Given the description of an element on the screen output the (x, y) to click on. 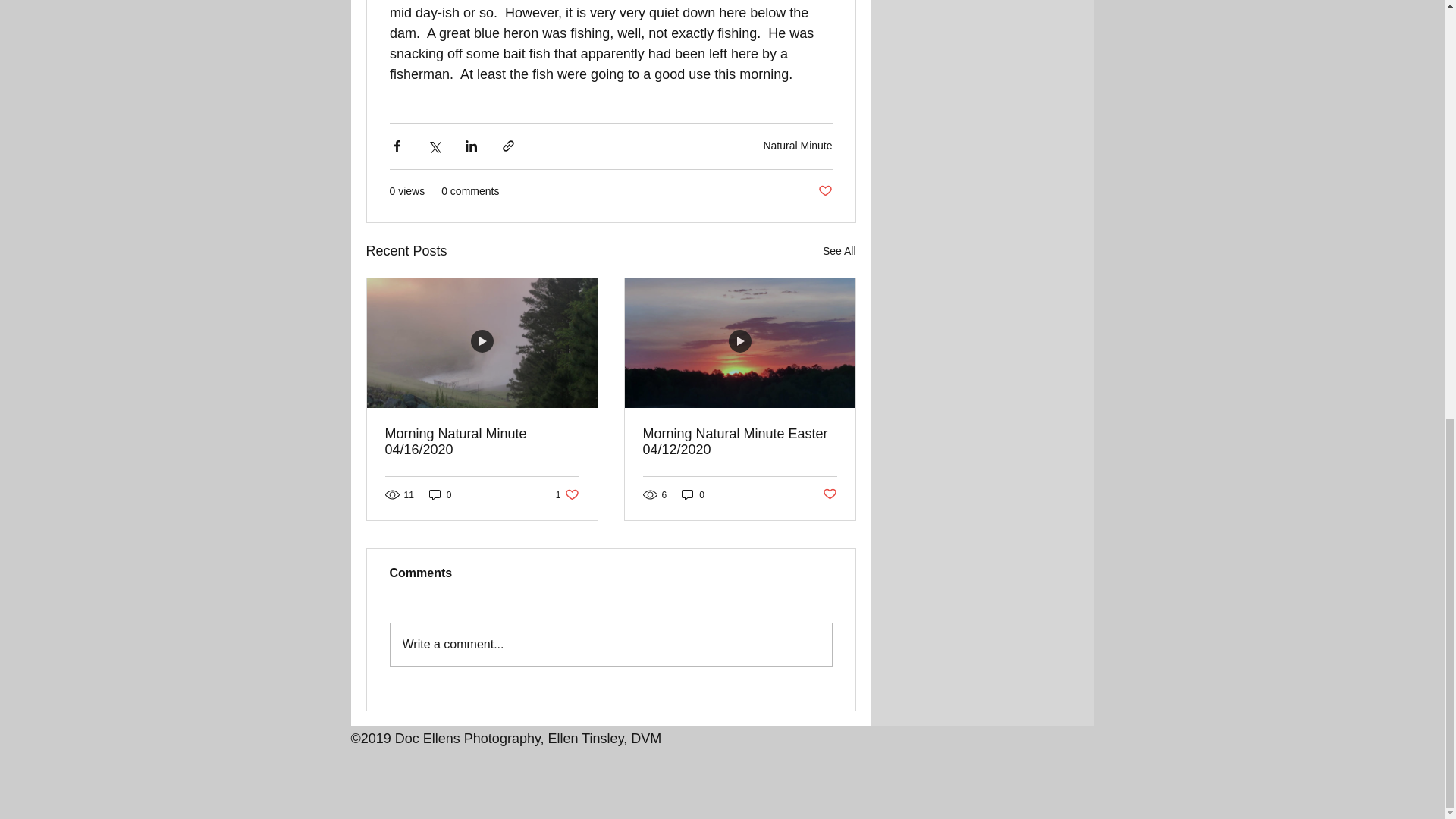
Natural Minute (796, 145)
Post not marked as liked (828, 494)
Post not marked as liked (823, 190)
0 (440, 494)
Write a comment... (610, 643)
0 (692, 494)
See All (839, 251)
